Given the description of an element on the screen output the (x, y) to click on. 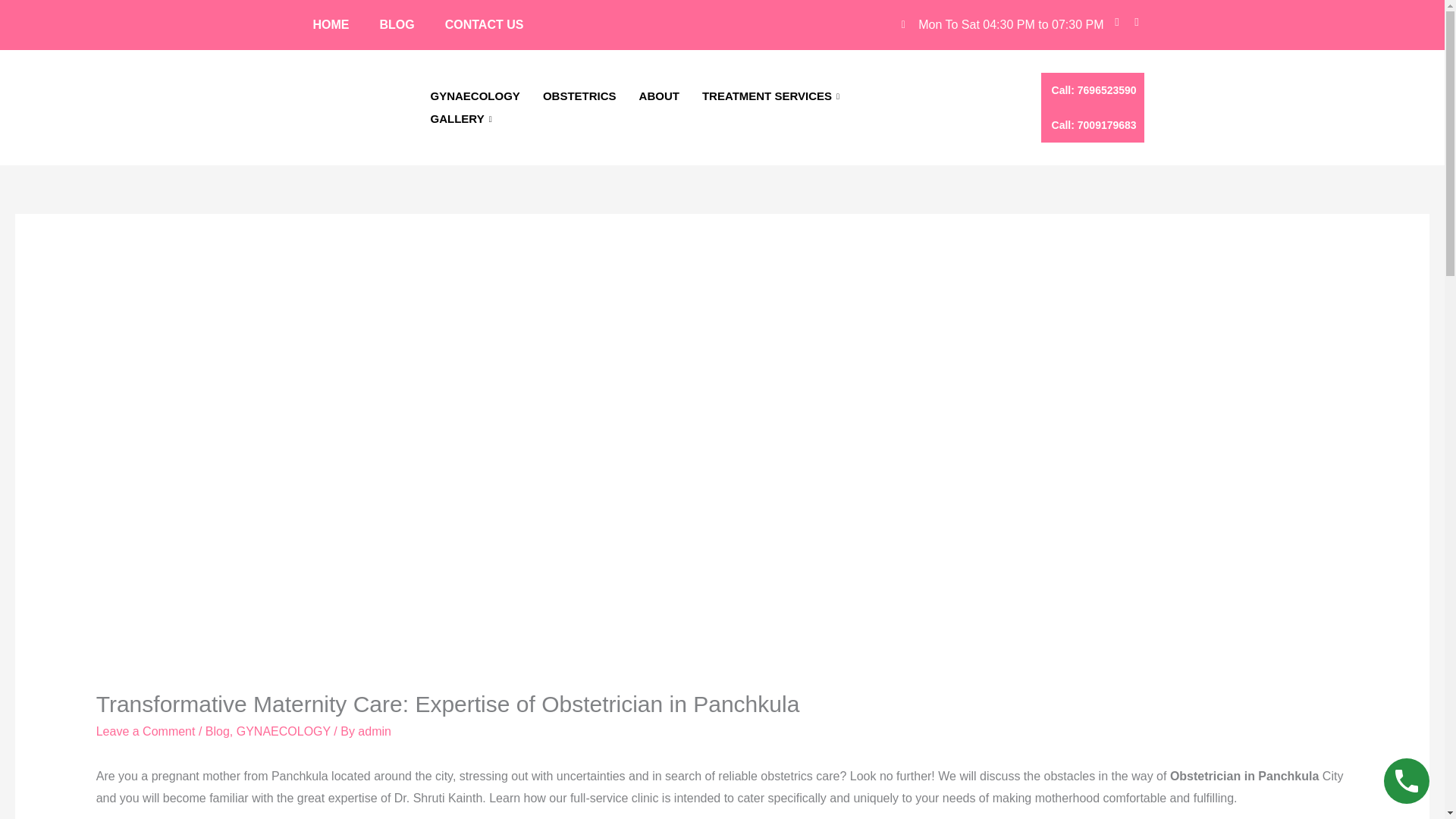
HOME (330, 24)
CONTACT US (483, 24)
GYNAECOLOGY (475, 96)
ABOUT (658, 96)
GALLERY (462, 118)
OBSTETRICS (579, 96)
BLOG (396, 24)
Call: 7696523590 (1092, 89)
View all posts by admin (374, 730)
TREATMENT SERVICES (772, 96)
